Given the description of an element on the screen output the (x, y) to click on. 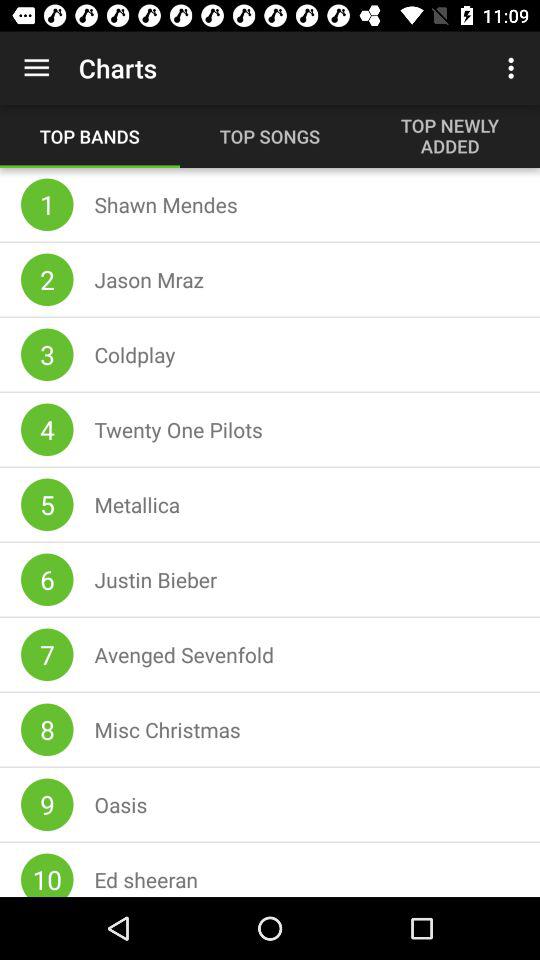
choose the icon below the avenged sevenfold icon (167, 729)
